Given the description of an element on the screen output the (x, y) to click on. 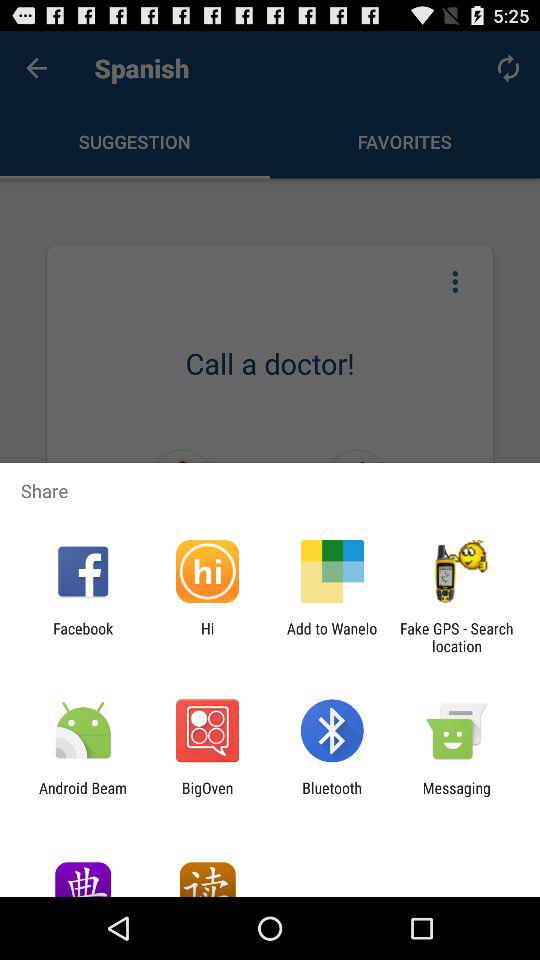
open the item next to add to wanelo (207, 637)
